Given the description of an element on the screen output the (x, y) to click on. 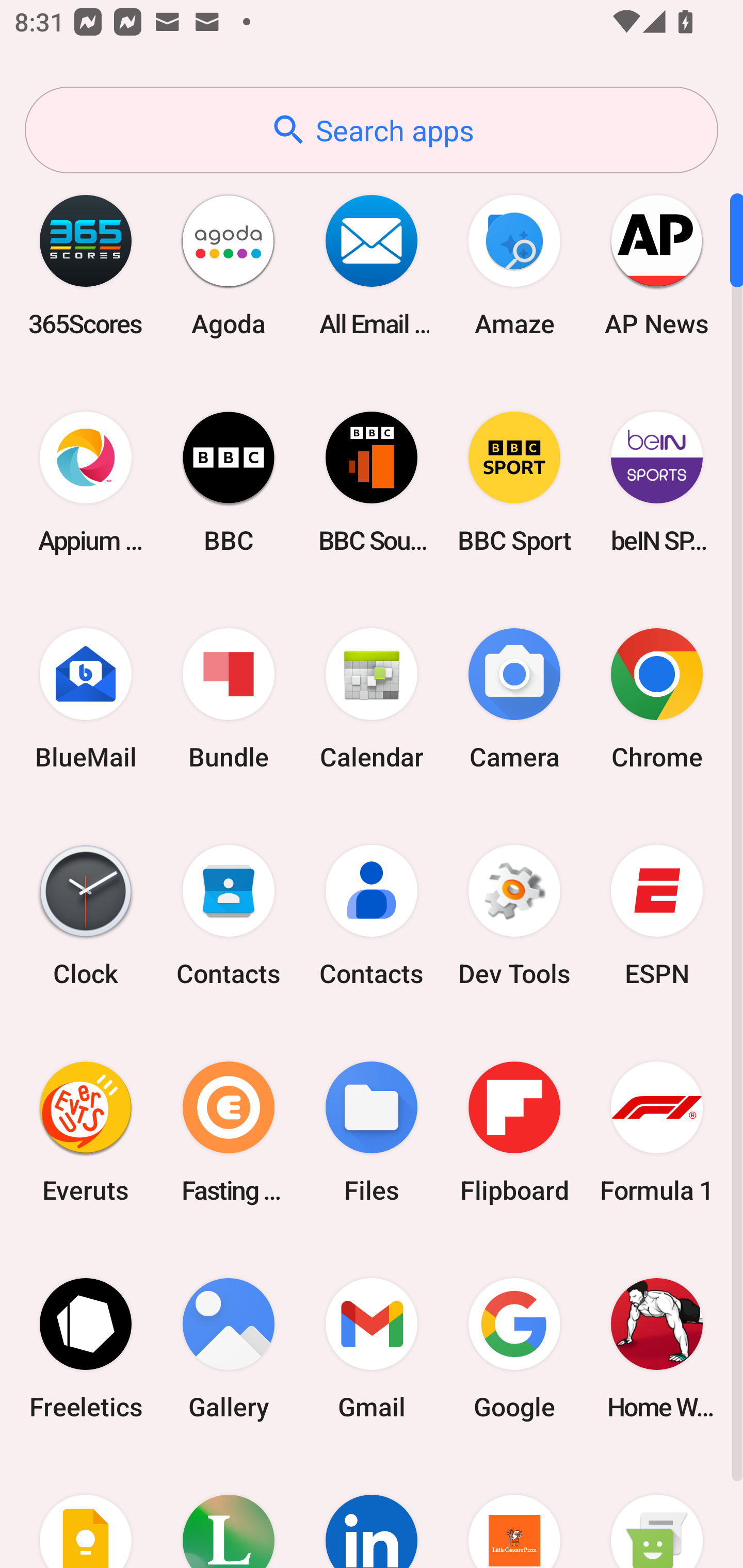
  Search apps (371, 130)
365Scores (85, 264)
Agoda (228, 264)
All Email Connect (371, 264)
Amaze (514, 264)
AP News (656, 264)
Appium Settings (85, 482)
BBC (228, 482)
BBC Sounds (371, 482)
BBC Sport (514, 482)
beIN SPORTS (656, 482)
BlueMail (85, 699)
Bundle (228, 699)
Calendar (371, 699)
Camera (514, 699)
Chrome (656, 699)
Clock (85, 915)
Contacts (228, 915)
Contacts (371, 915)
Dev Tools (514, 915)
ESPN (656, 915)
Everuts (85, 1131)
Fasting Coach (228, 1131)
Files (371, 1131)
Flipboard (514, 1131)
Formula 1 (656, 1131)
Freeletics (85, 1348)
Gallery (228, 1348)
Gmail (371, 1348)
Google (514, 1348)
Home Workout (656, 1348)
Keep Notes (85, 1512)
Lifesum (228, 1512)
LinkedIn (371, 1512)
Little Caesars Pizza (514, 1512)
Messaging (656, 1512)
